Given the description of an element on the screen output the (x, y) to click on. 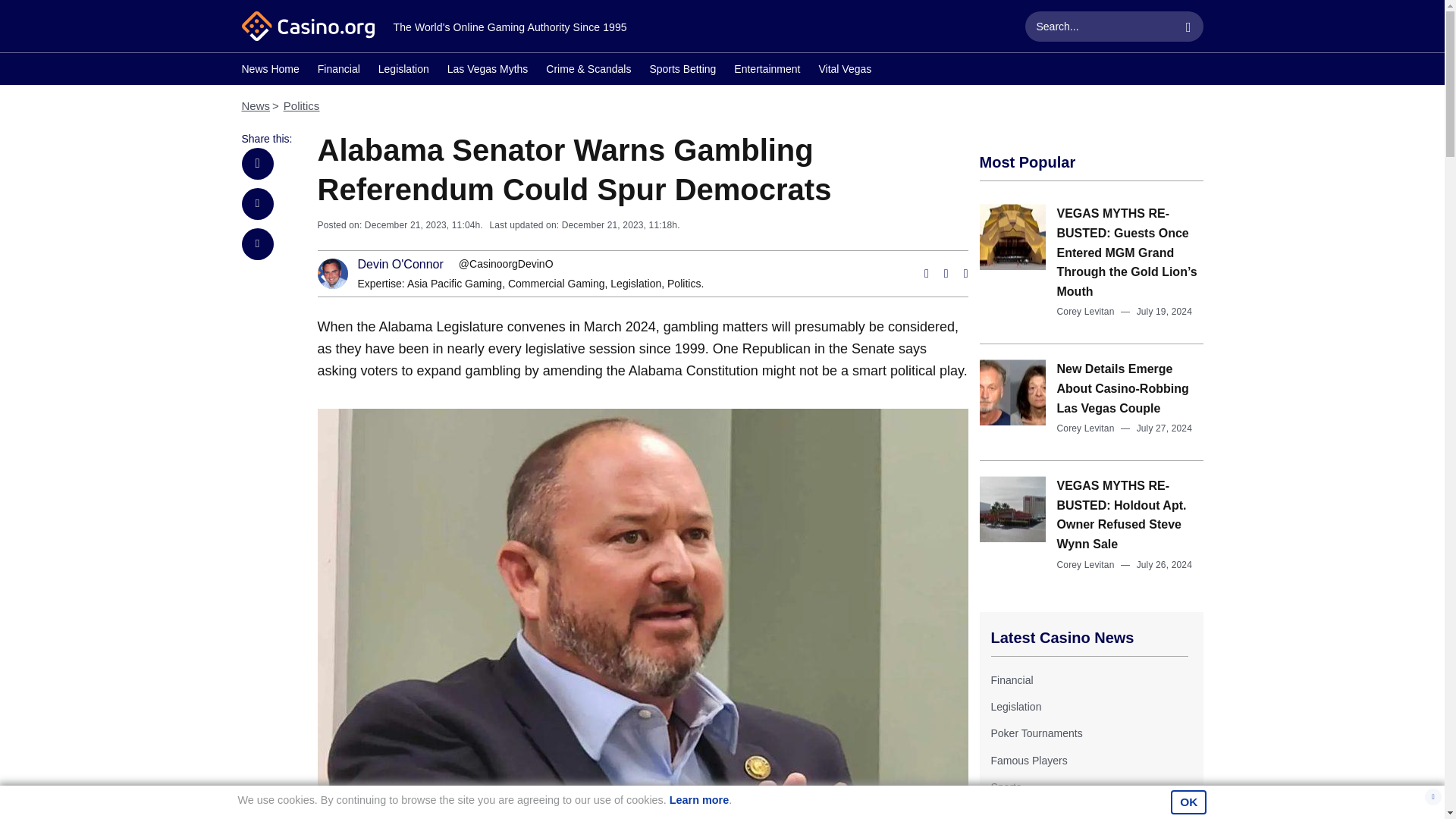
Mobile Gaming (1025, 813)
Famous Players (1028, 760)
Sports Betting (682, 70)
Sports (1005, 787)
Legislation (403, 70)
Commercial Gaming (556, 283)
Financial (338, 70)
Corey Levitan (1086, 428)
Las Vegas Myths (487, 70)
New Details Emerge About Casino-Robbing Las Vegas Couple (1123, 388)
Corey Levitan (1086, 311)
Legislation (635, 283)
Politics (301, 105)
Entertainment (766, 70)
Poker Tournaments (1035, 733)
